Given the description of an element on the screen output the (x, y) to click on. 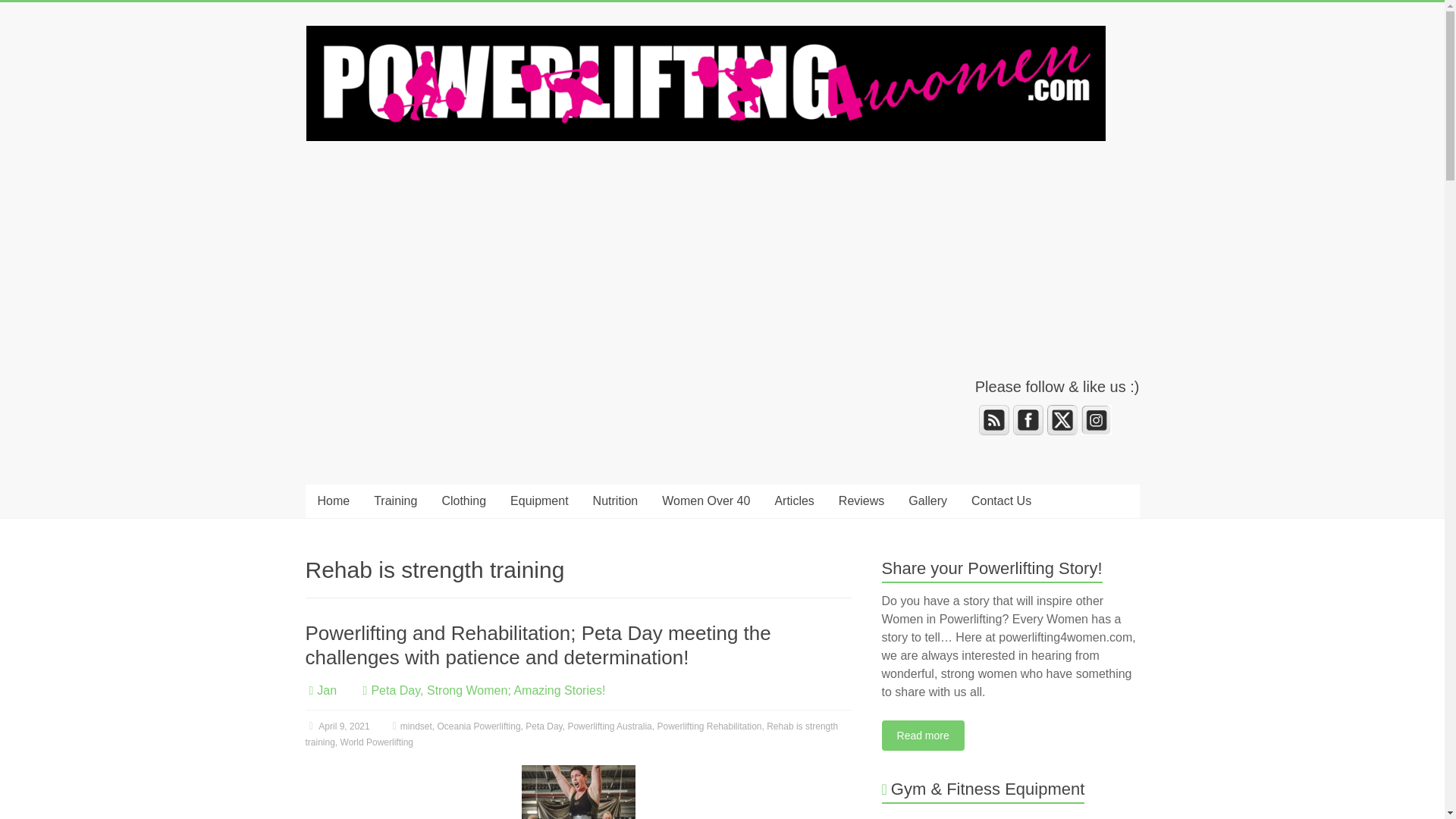
Equipment (538, 500)
Instagram (1096, 419)
Jan (326, 689)
Clothing (463, 500)
Oceania Powerlifting (479, 726)
Rehab is strength training (571, 734)
Powerlifting Rehabilitation (708, 726)
Facebook (1028, 419)
